Given the description of an element on the screen output the (x, y) to click on. 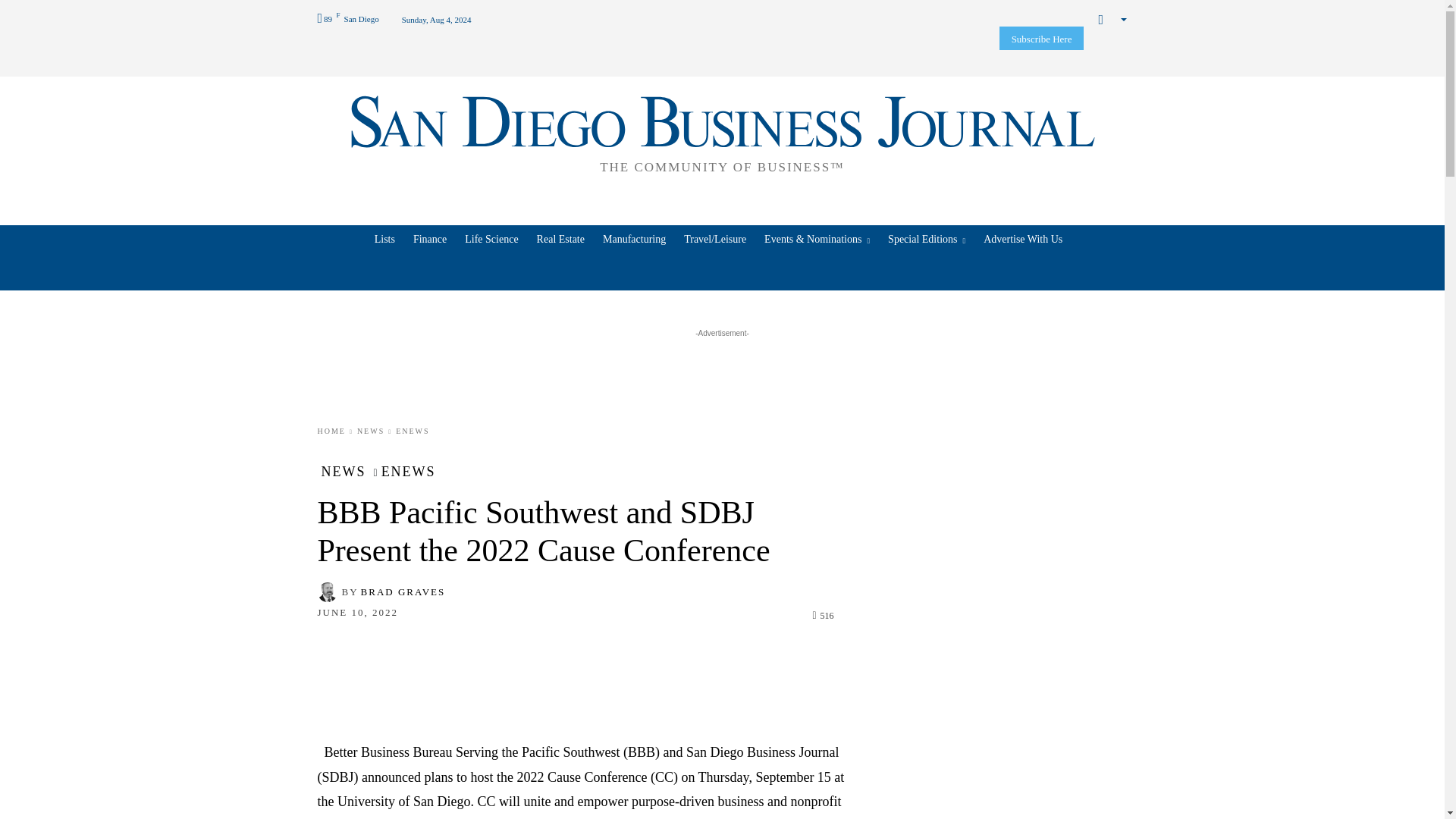
3rd party ad content (722, 375)
San Diego Business Journal Logo (721, 132)
